Given the description of an element on the screen output the (x, y) to click on. 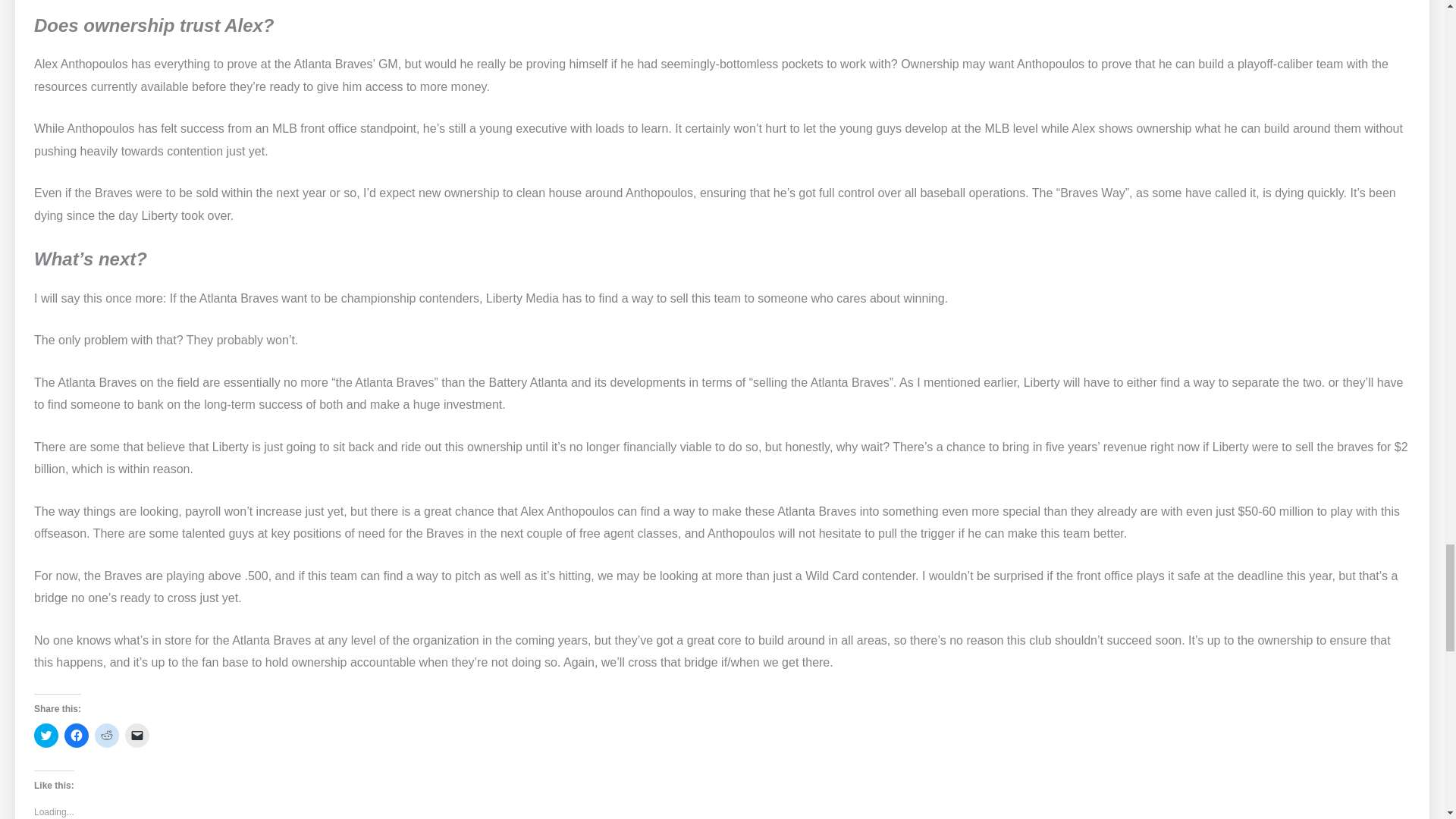
Click to share on Reddit (106, 735)
Click to share on Twitter (45, 735)
Click to share on Facebook (76, 735)
